Given the description of an element on the screen output the (x, y) to click on. 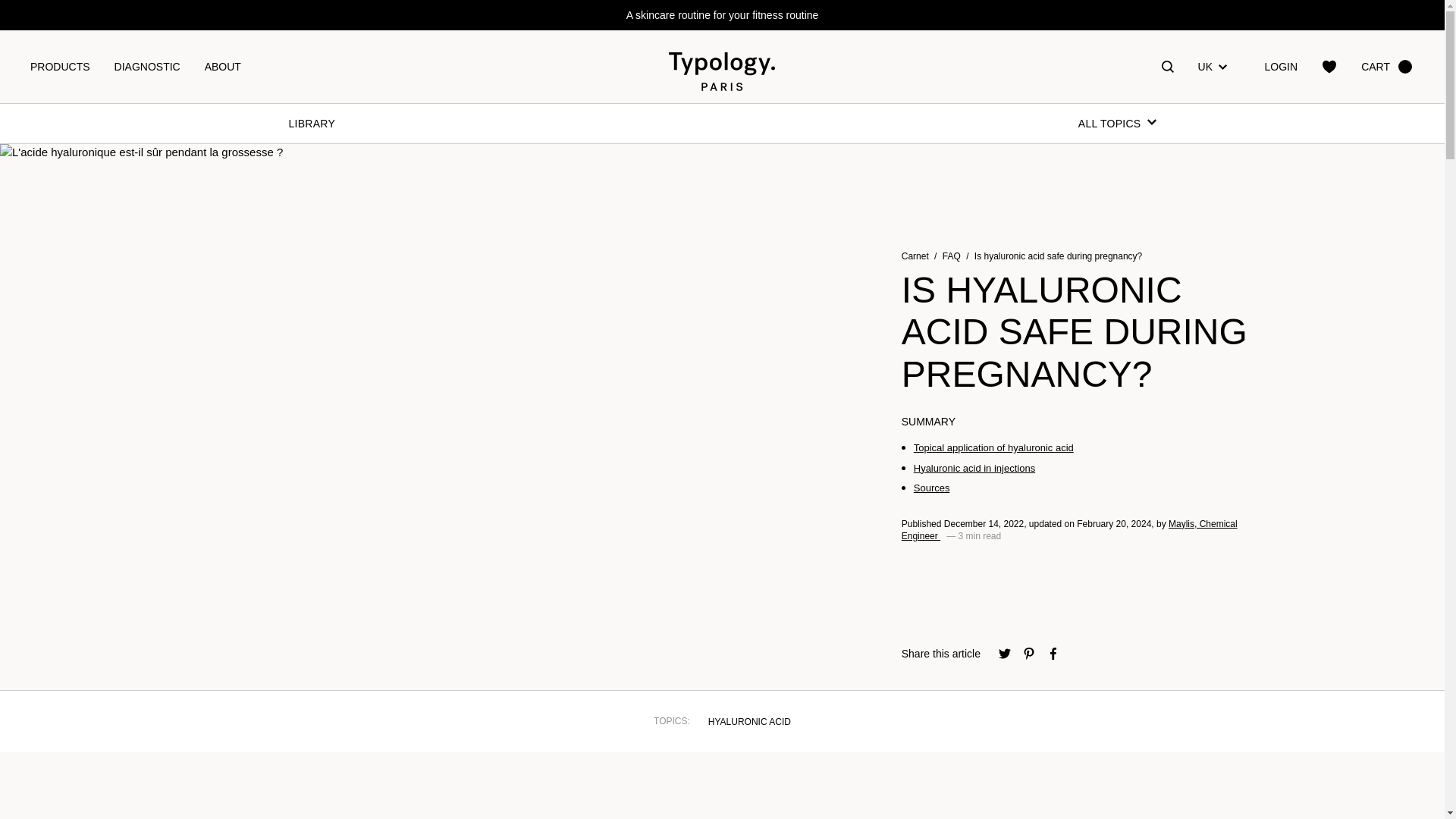
A skincare routine for your fitness routine (722, 14)
PRODUCTS (59, 66)
